Given the description of an element on the screen output the (x, y) to click on. 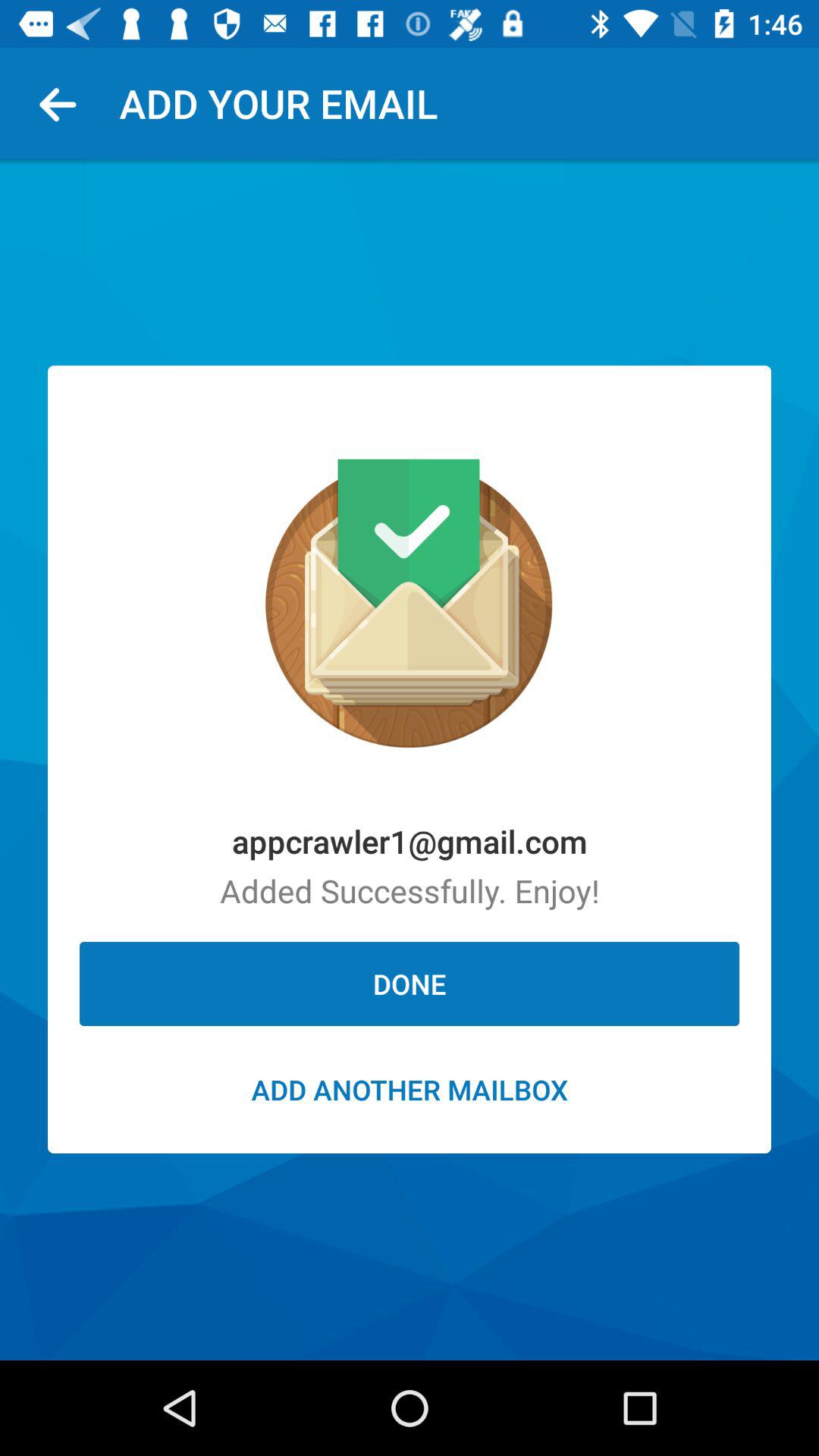
tap item below the done item (409, 1089)
